Given the description of an element on the screen output the (x, y) to click on. 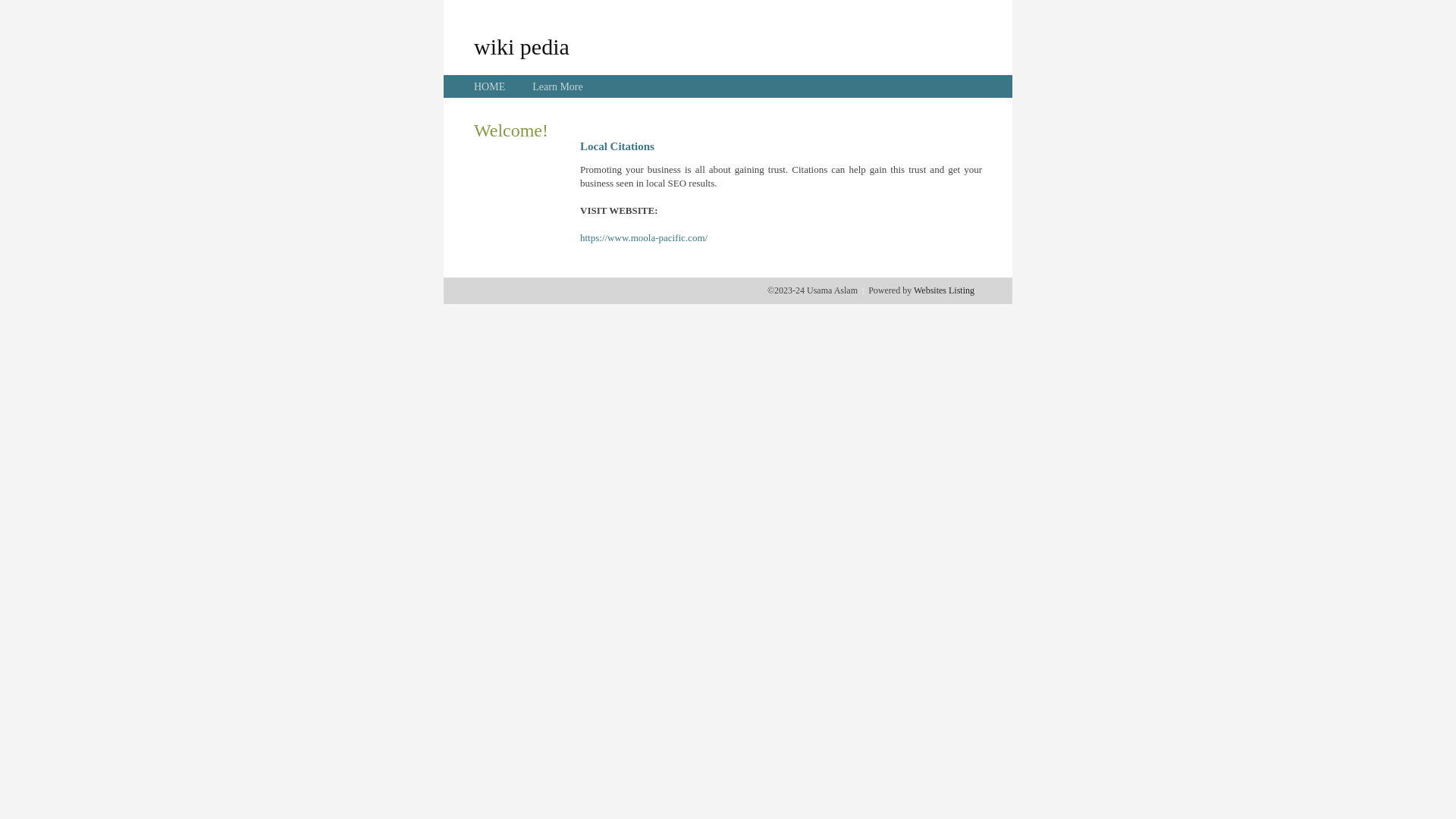
Learn More Element type: text (557, 86)
https://www.moola-pacific.com/ Element type: text (643, 237)
wiki pedia Element type: text (521, 46)
HOME Element type: text (489, 86)
Websites Listing Element type: text (943, 290)
